Given the description of an element on the screen output the (x, y) to click on. 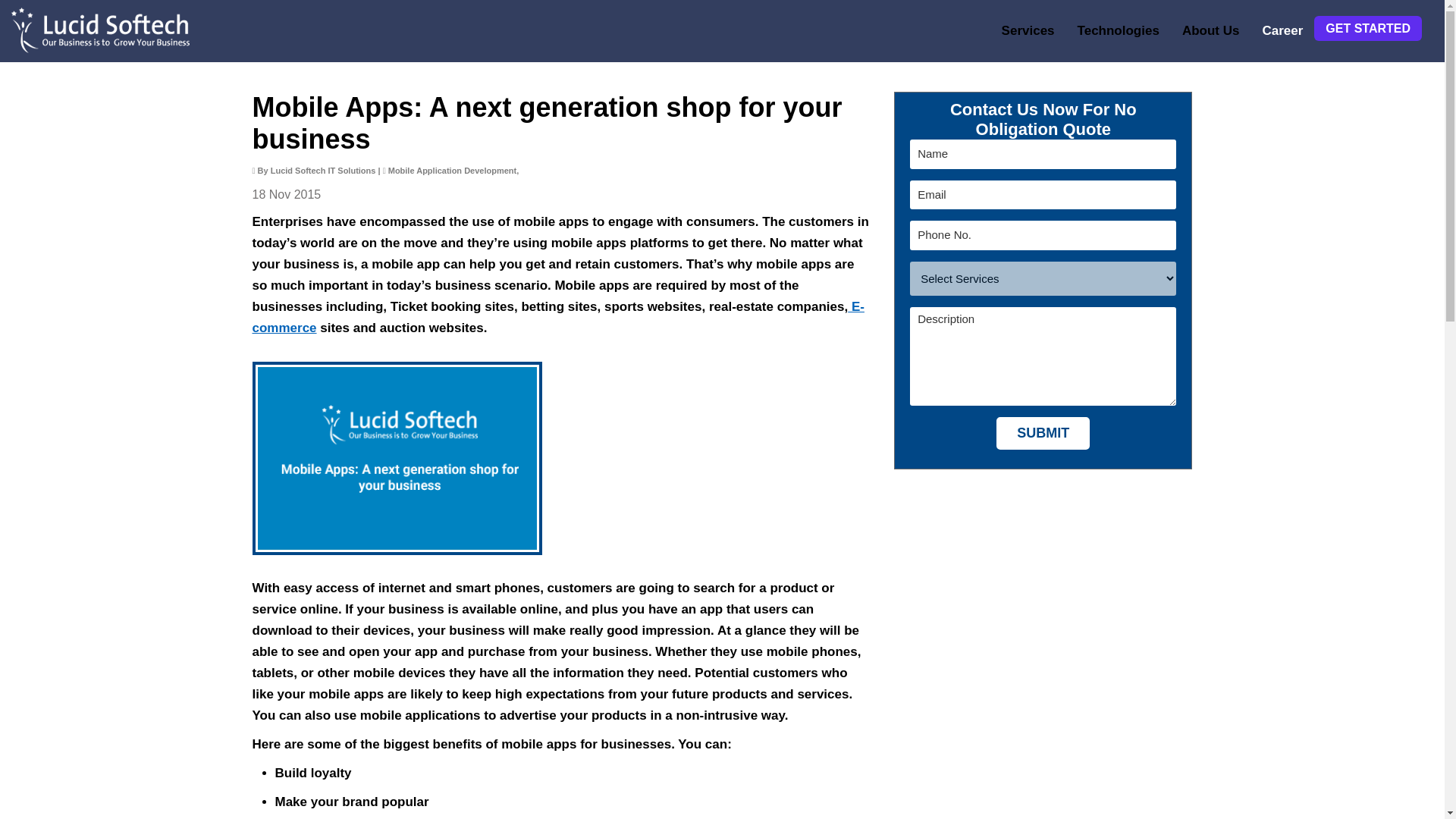
Services (1027, 31)
Technologies (1117, 31)
